Given the description of an element on the screen output the (x, y) to click on. 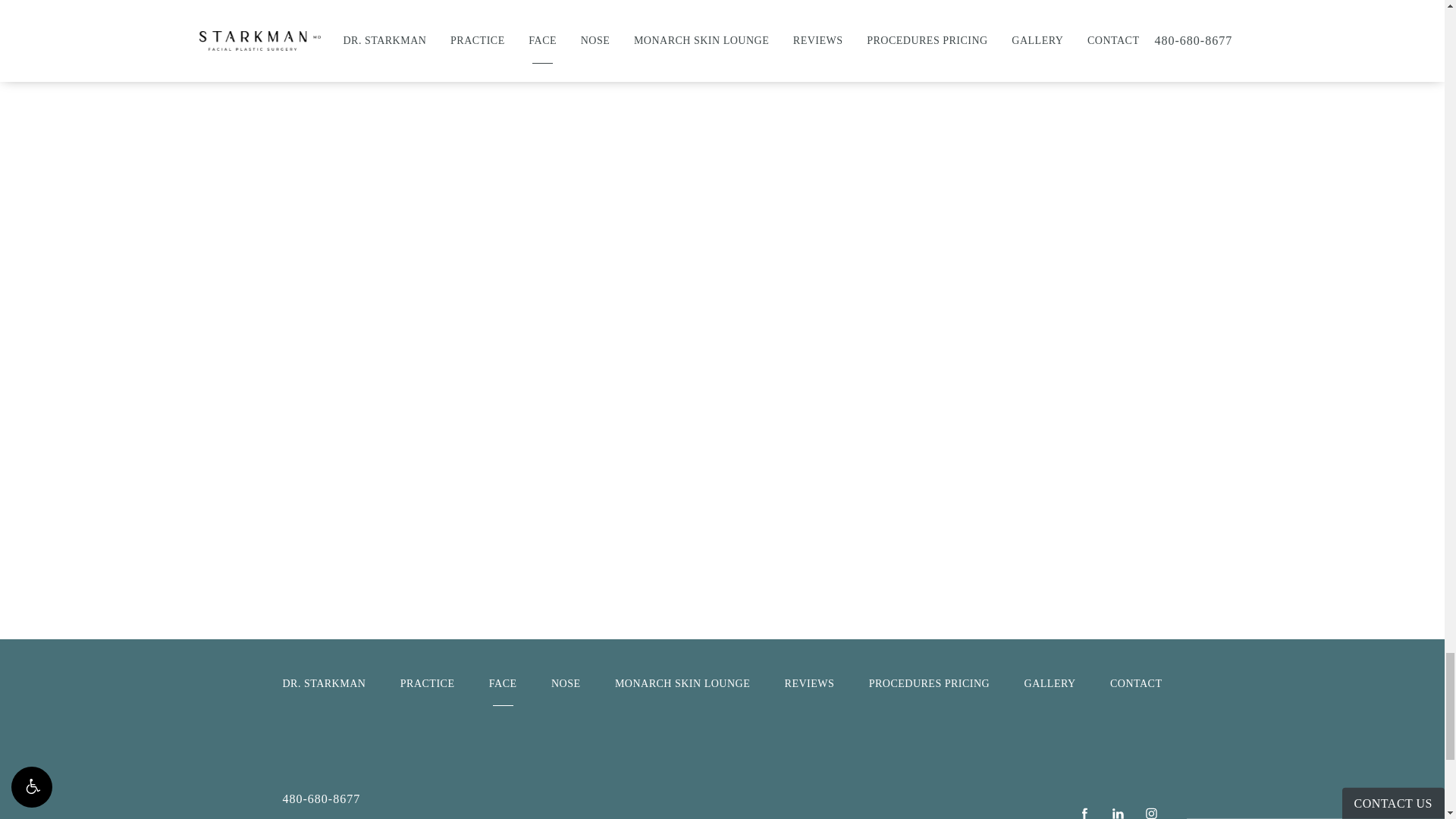
Starkman Facial Plastic Surgery on Instagram (1150, 810)
Starkman Facial Plastic Surgery on Linkedin (1117, 810)
Starkman Facial Plastic Surgery on Facebook (1085, 810)
